Given the description of an element on the screen output the (x, y) to click on. 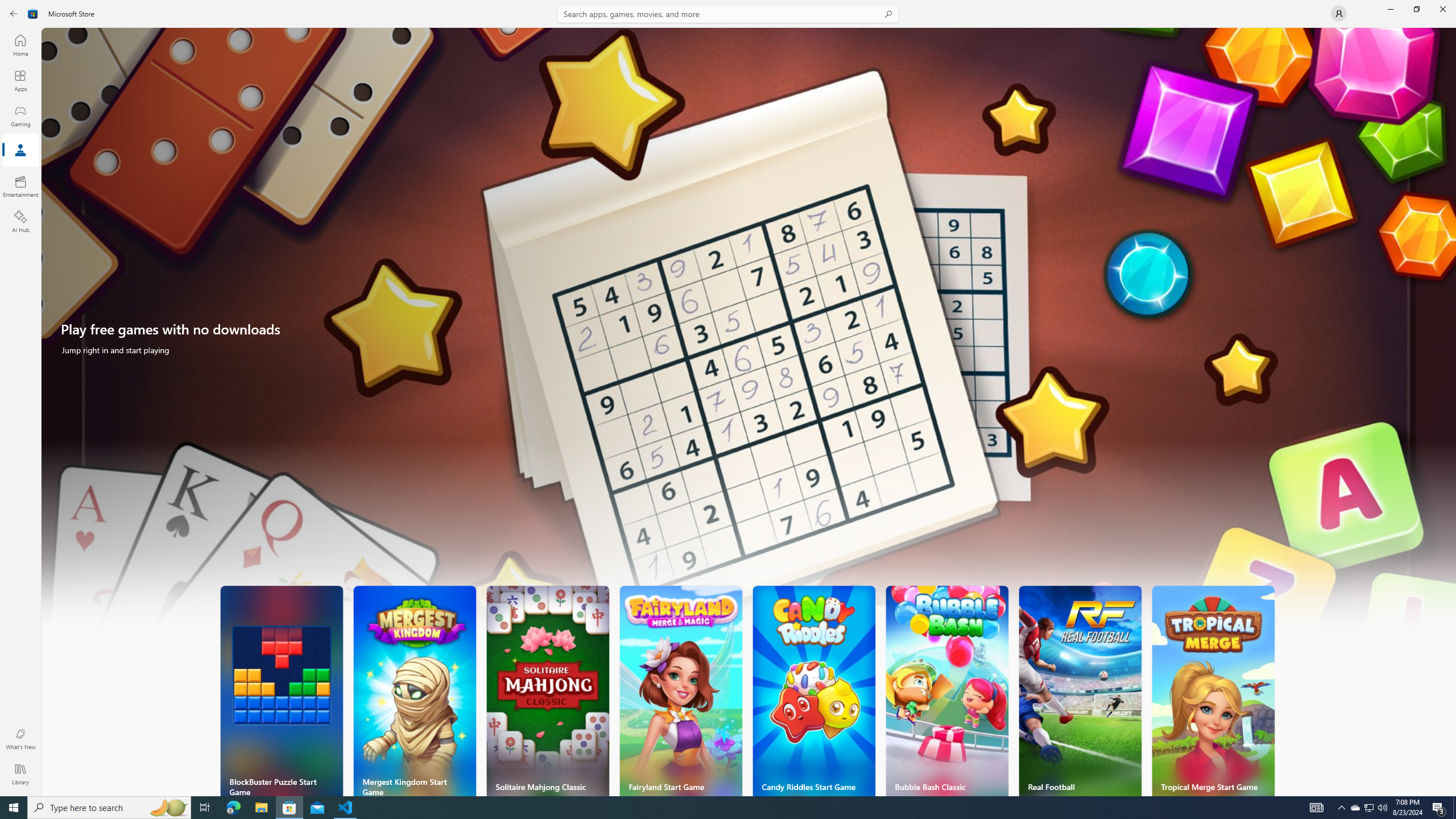
Minimize Microsoft Store (1390, 9)
Gaming (20, 115)
What's New (20, 738)
Entertainment (20, 185)
AutomationID: NavigationControl (728, 398)
Apps (20, 80)
Restore Microsoft Store (1416, 9)
Class: Image (32, 13)
Close Microsoft Store (1442, 9)
AutomationID: HeroImage (749, 337)
Arcade (20, 150)
